Given the description of an element on the screen output the (x, y) to click on. 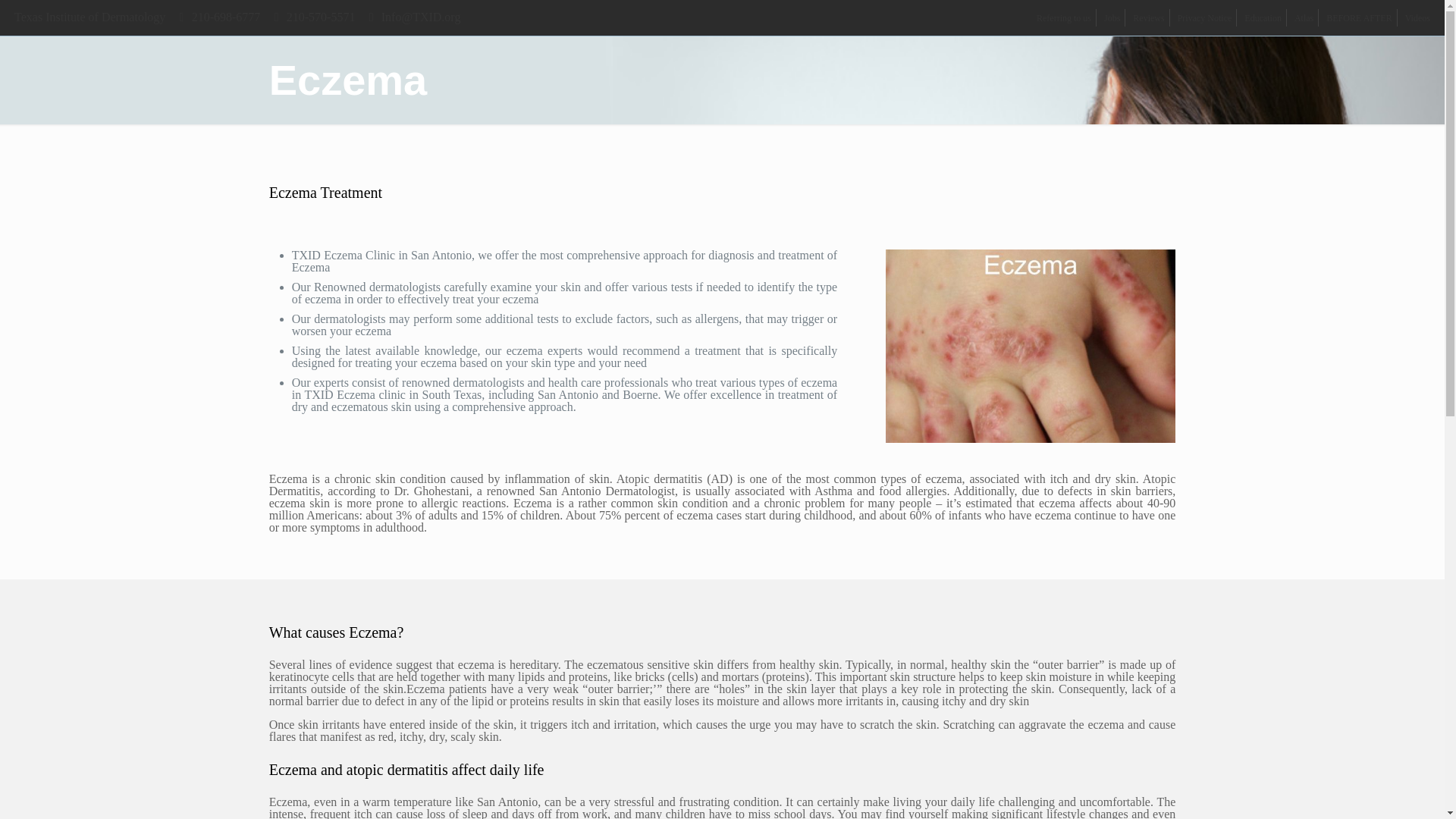
Atlas (1303, 18)
Reviews (1147, 18)
Privacy Notice (1204, 18)
Jobs (1111, 18)
Referring to us (1063, 18)
210-570-5571 (320, 16)
210-698-6777 (226, 16)
Videos (1417, 18)
BEFORE AFTER (1358, 18)
Education (1262, 18)
